Given the description of an element on the screen output the (x, y) to click on. 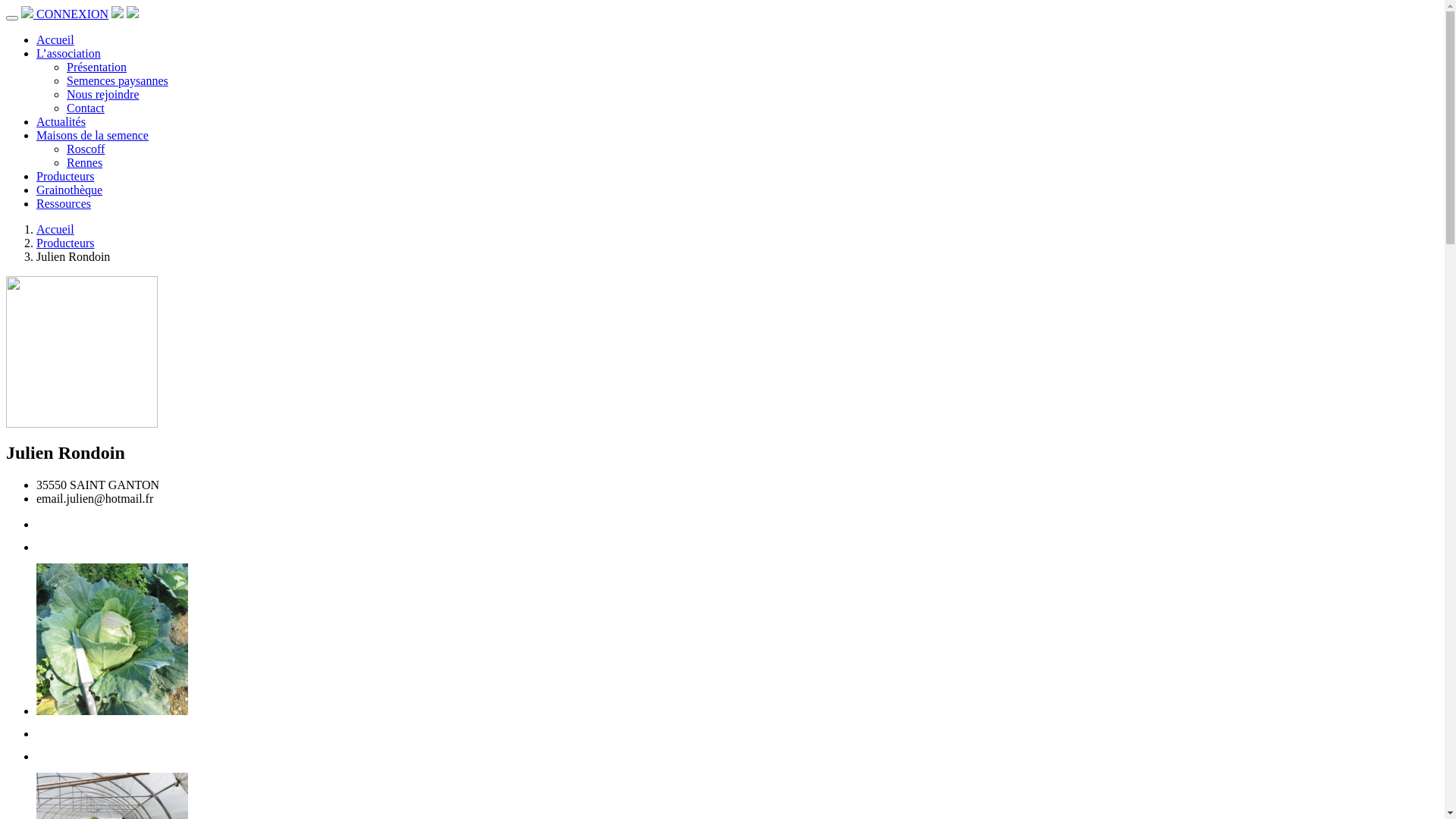
Semences paysannes Element type: text (117, 80)
Accueil Element type: text (55, 39)
Producteurs Element type: text (65, 175)
Maisons de la semence Element type: text (92, 134)
Ressources Element type: text (63, 203)
Nous rejoindre Element type: text (102, 93)
Contact Element type: text (85, 107)
CONNEXION Element type: text (72, 13)
Rennes Element type: text (84, 162)
Producteurs Element type: text (65, 242)
Roscoff Element type: text (85, 148)
Accueil Element type: text (55, 228)
